Given the description of an element on the screen output the (x, y) to click on. 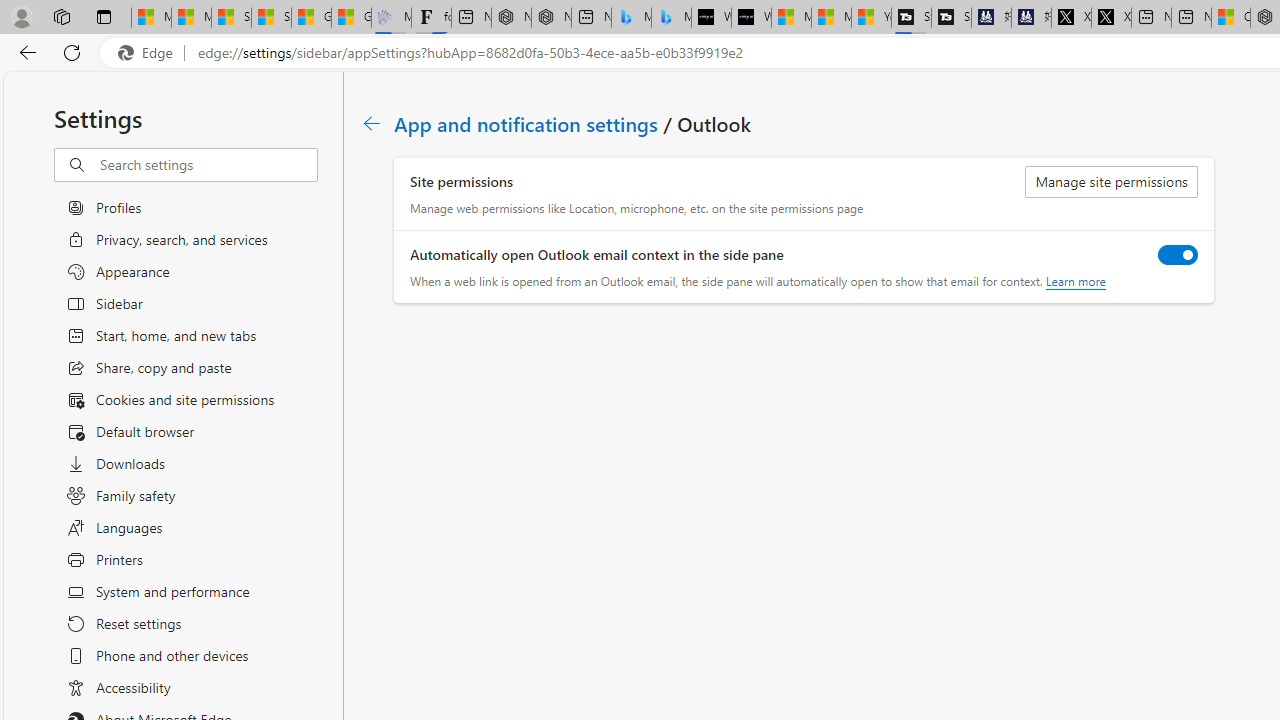
Search settings (207, 165)
